Given the description of an element on the screen output the (x, y) to click on. 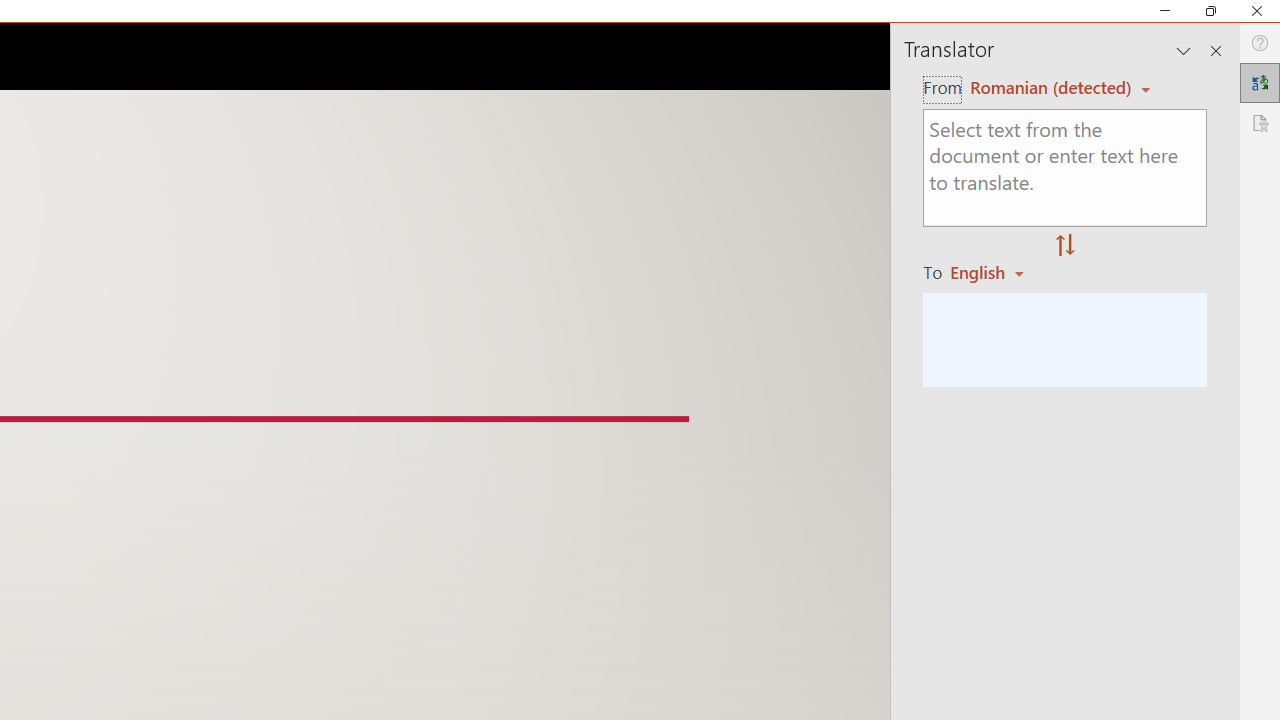
Swap "from" and "to" languages. (1065, 245)
Translator (1260, 82)
Romanian (994, 272)
Czech (detected) (1047, 87)
